Given the description of an element on the screen output the (x, y) to click on. 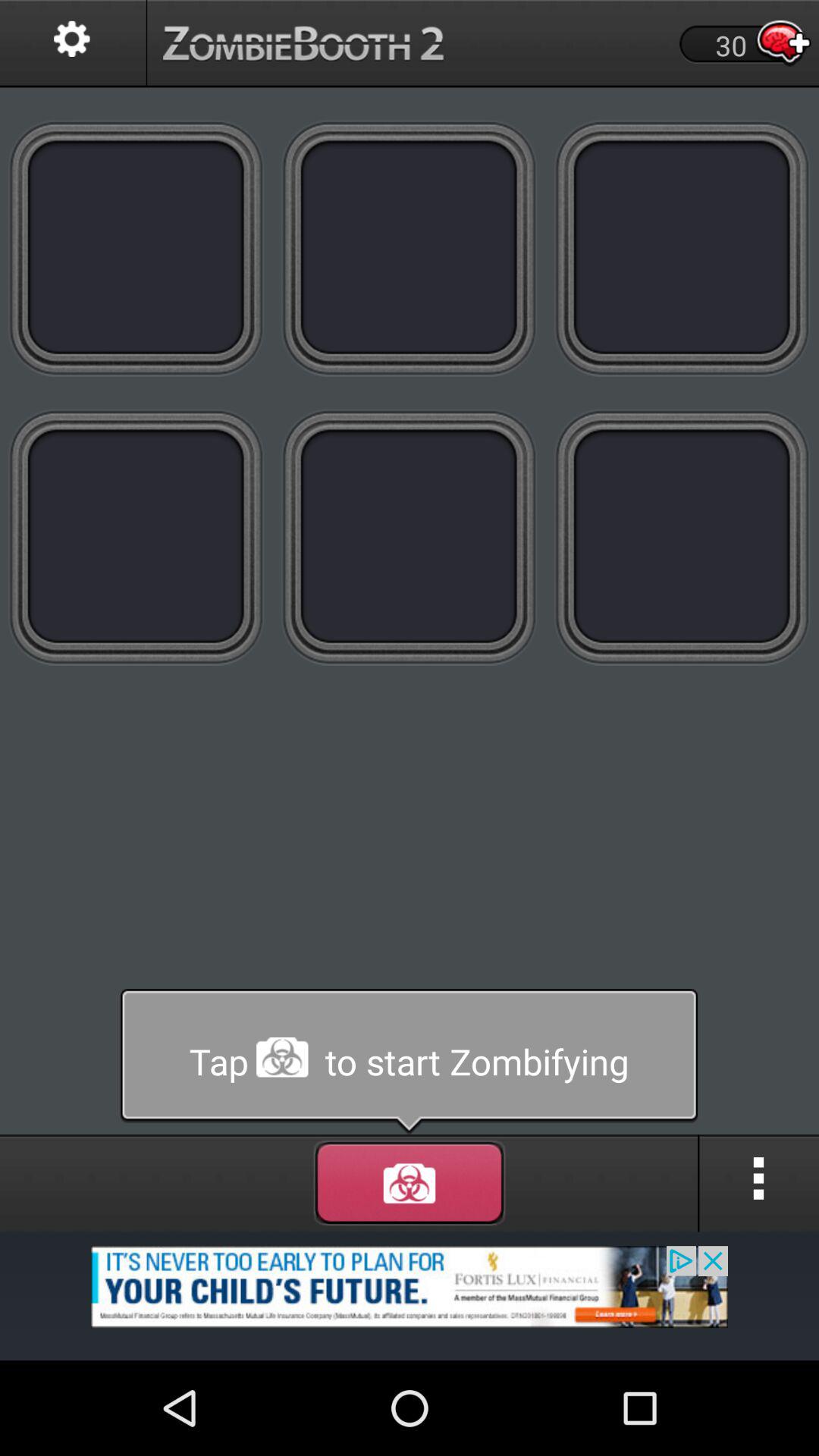
game page (136, 247)
